Given the description of an element on the screen output the (x, y) to click on. 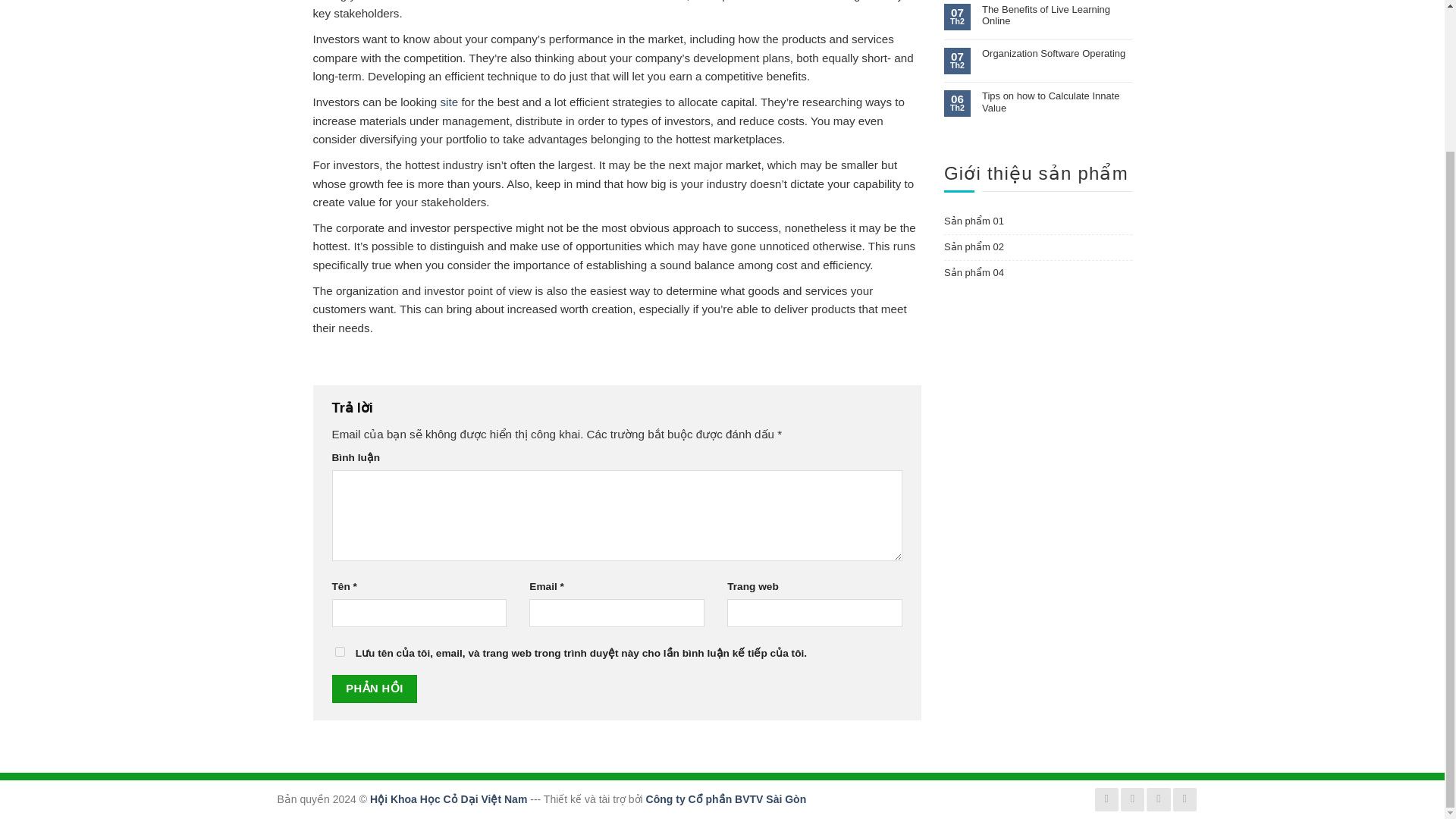
Send us an email (1184, 799)
Tips on how to Calculate Innate Value (1056, 101)
The Benefits of Live Learning Online (1056, 15)
Organization Software Operating (1056, 53)
Tips on how to Calculate Innate Value (1056, 101)
Follow on Instagram (1132, 799)
yes (339, 651)
Follow on Facebook (1106, 799)
site (449, 101)
The Benefits of Live Learning Online (1056, 15)
